Given the description of an element on the screen output the (x, y) to click on. 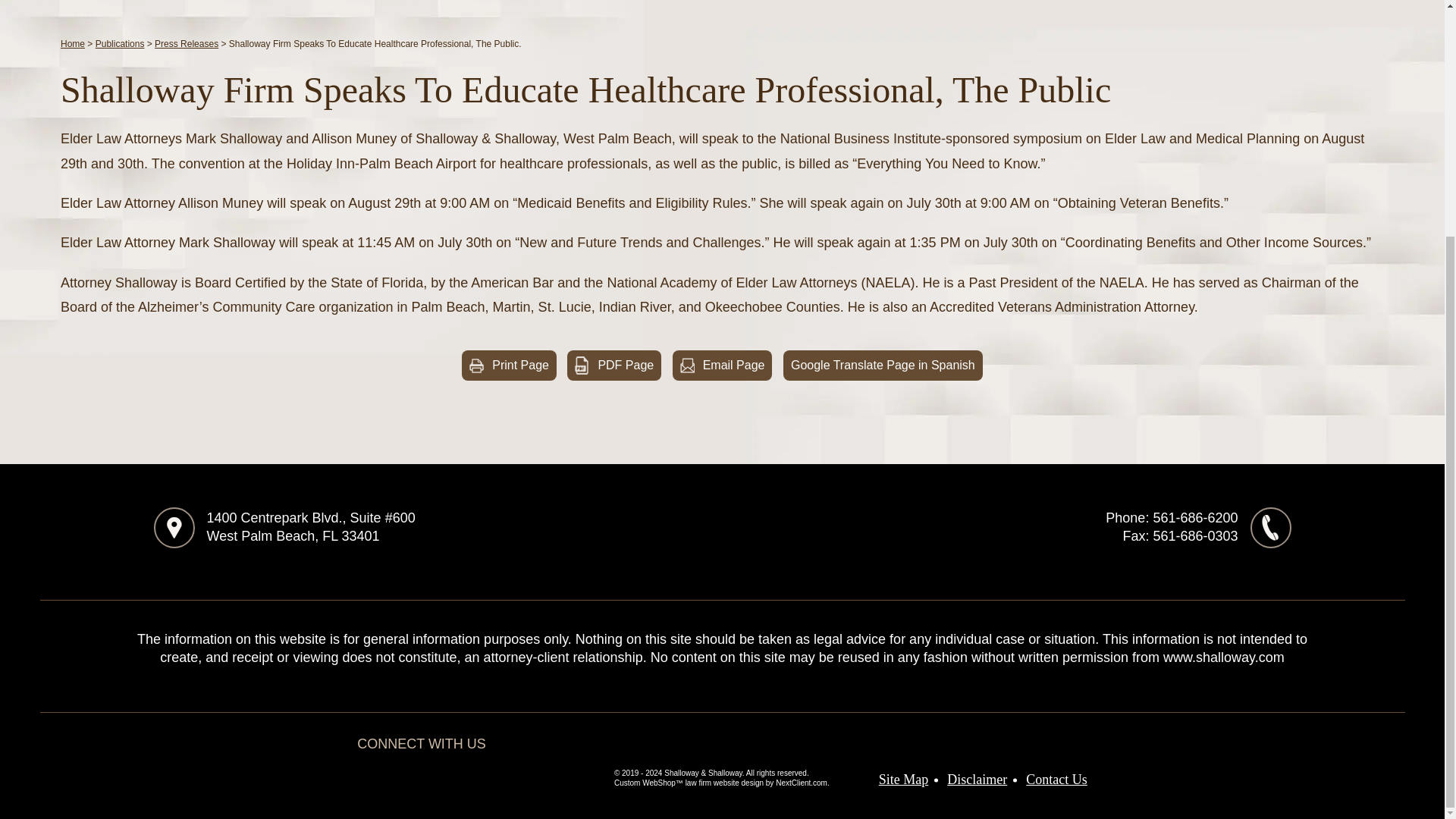
Trust Payment Button (760, 531)
